Given the description of an element on the screen output the (x, y) to click on. 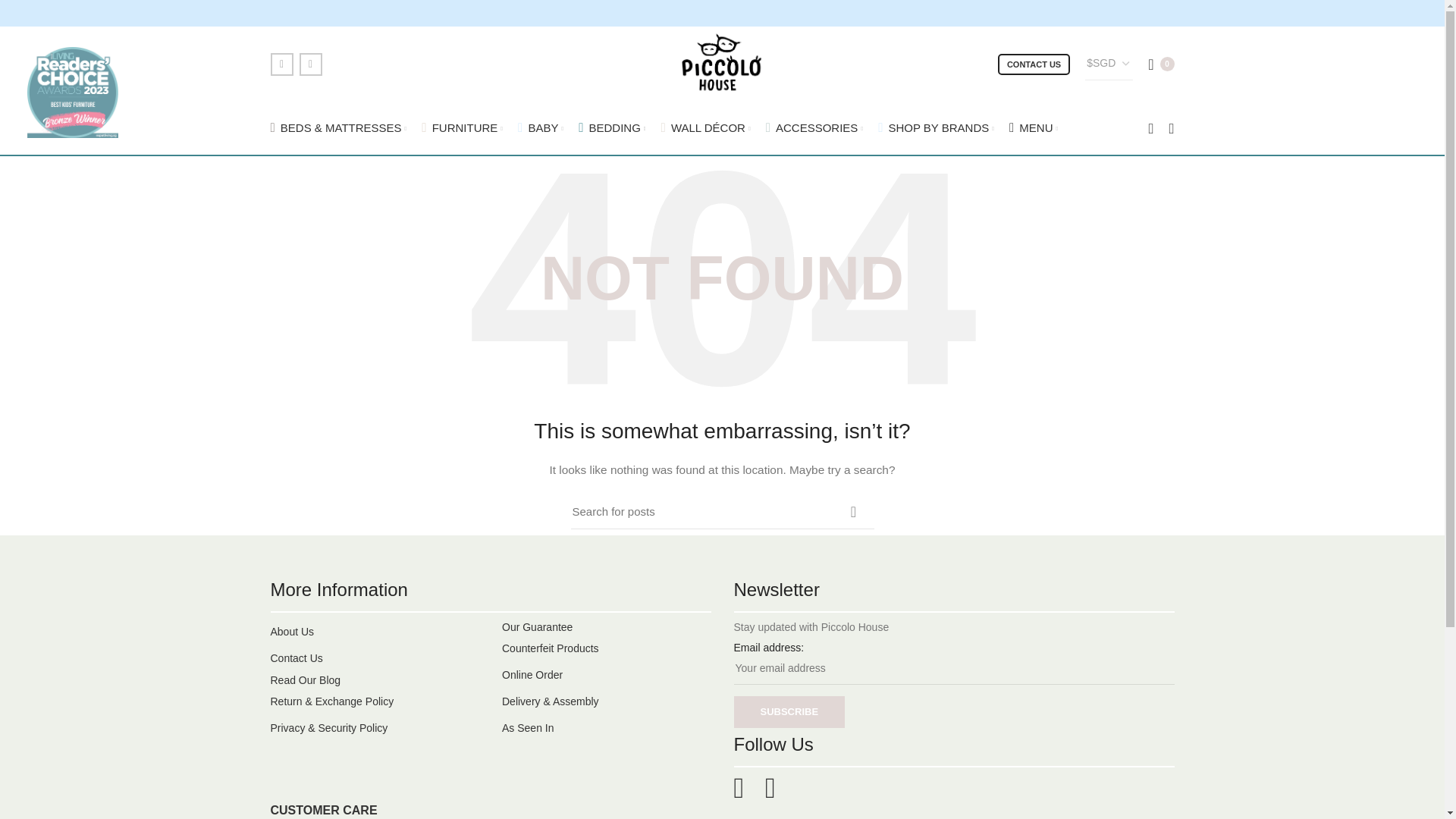
Search for posts (721, 511)
CONTACT US (1033, 63)
BABY (540, 128)
BEDDING (611, 128)
Shopping cart (1160, 63)
FURNITURE (462, 128)
Subscribe (789, 712)
0 (1160, 63)
